Given the description of an element on the screen output the (x, y) to click on. 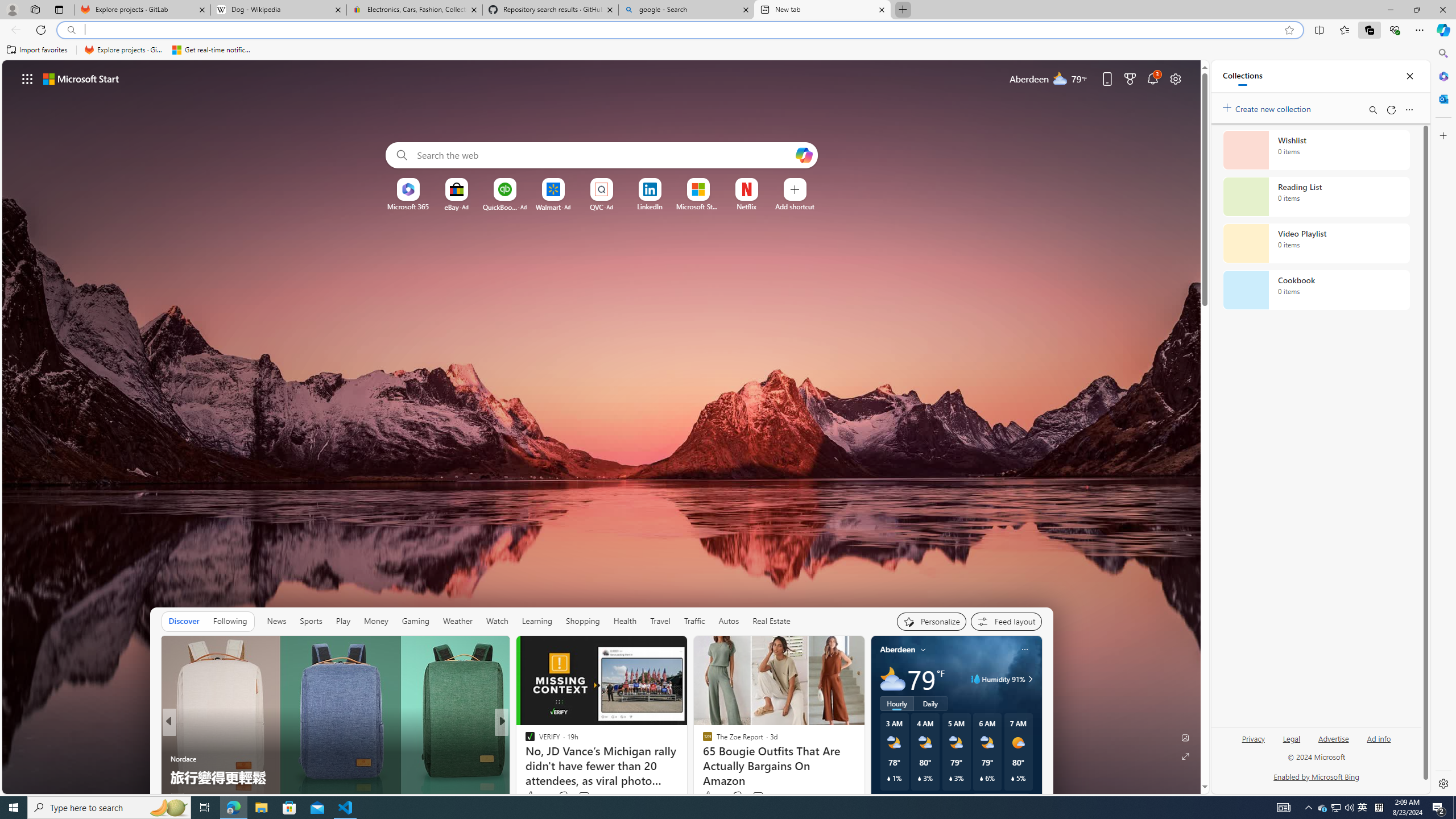
Class: weather-arrow-glyph (1029, 678)
Humidity 91% (1028, 678)
CNBC (524, 740)
View comments 23 Comment (580, 797)
